Given the description of an element on the screen output the (x, y) to click on. 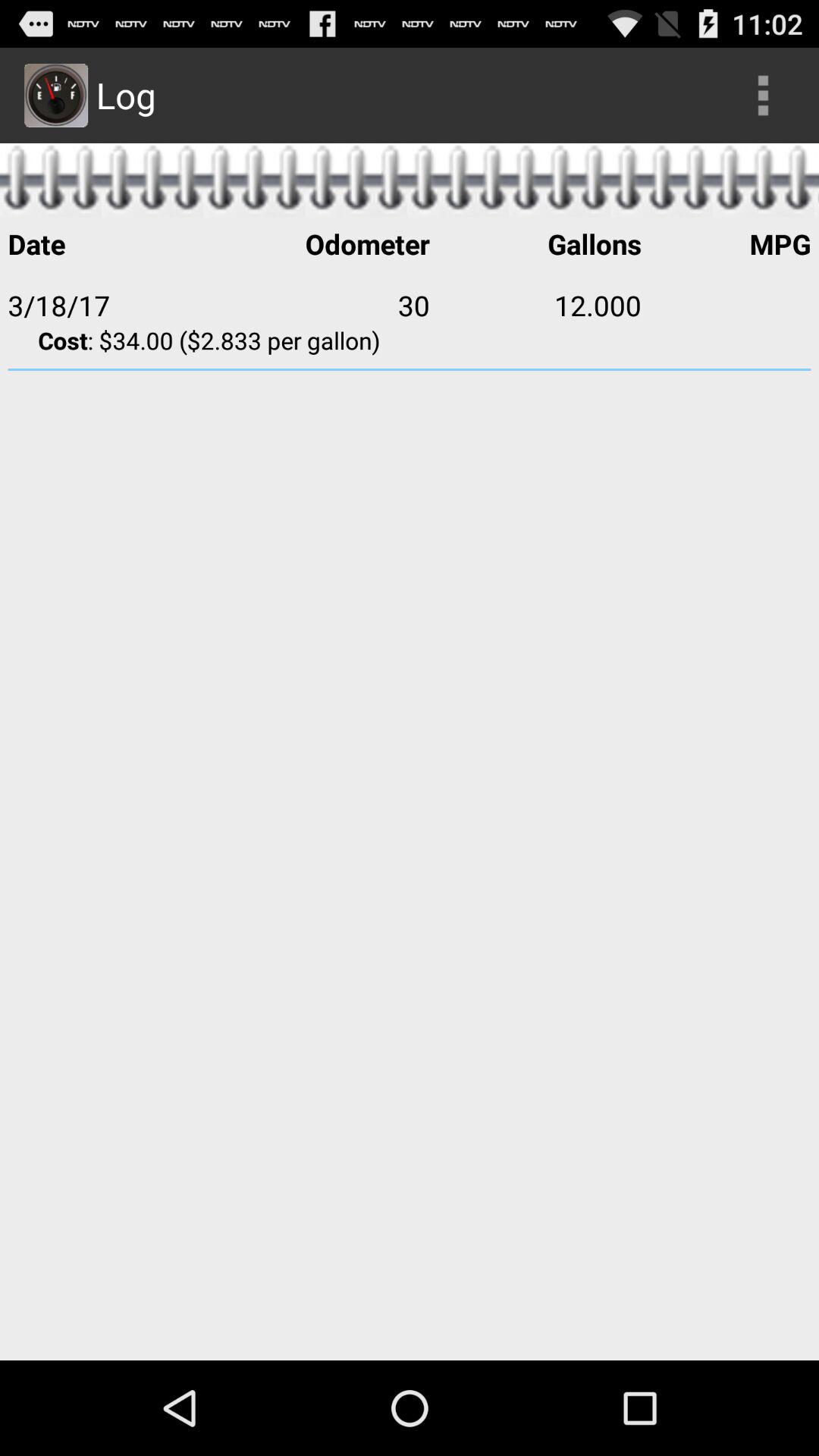
select icon next to log item (763, 95)
